Given the description of an element on the screen output the (x, y) to click on. 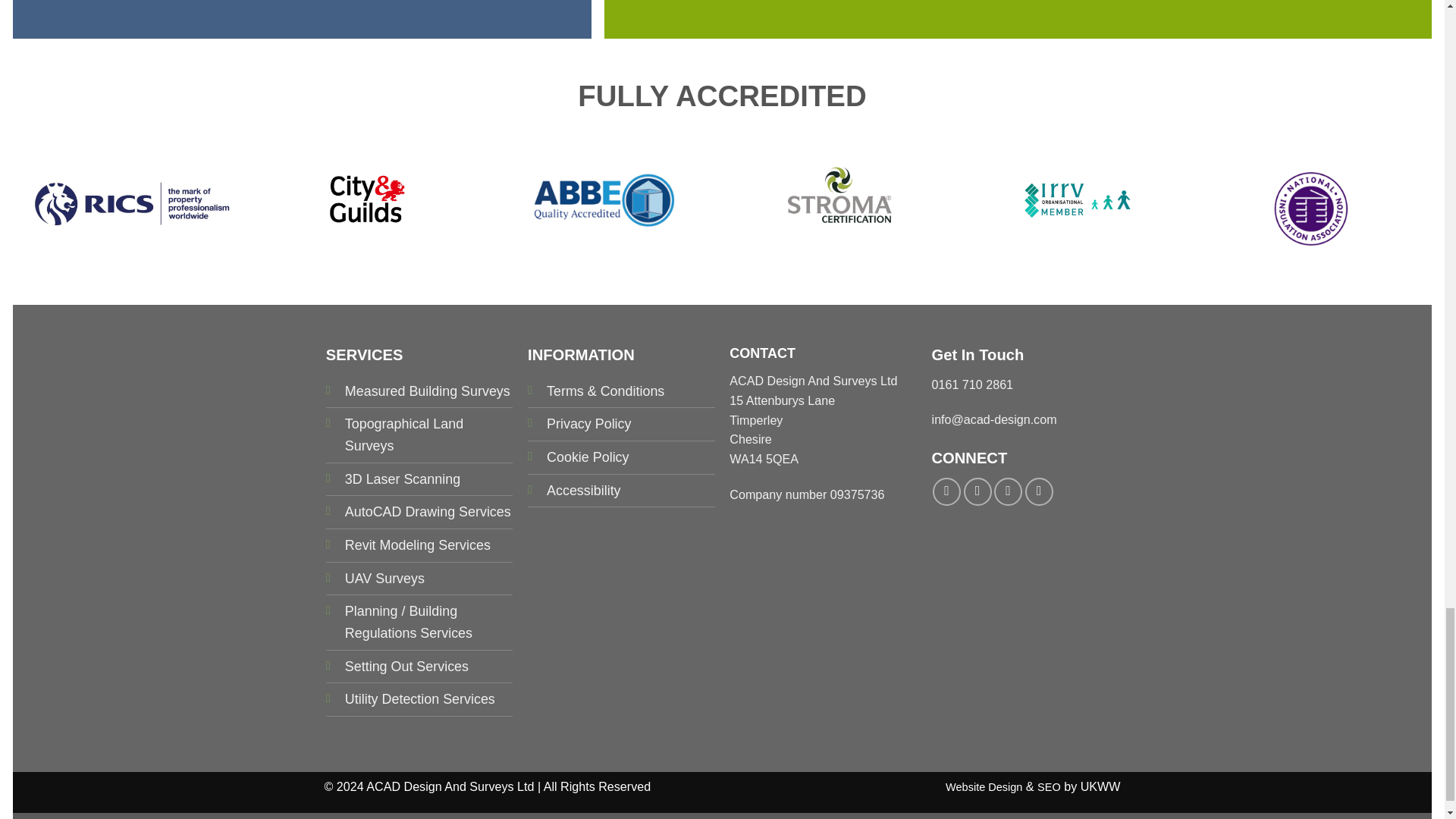
Follow on LinkedIn (1038, 491)
Follow on Instagram (977, 491)
Follow on Facebook (946, 491)
Follow on Twitter (1008, 491)
